Given the description of an element on the screen output the (x, y) to click on. 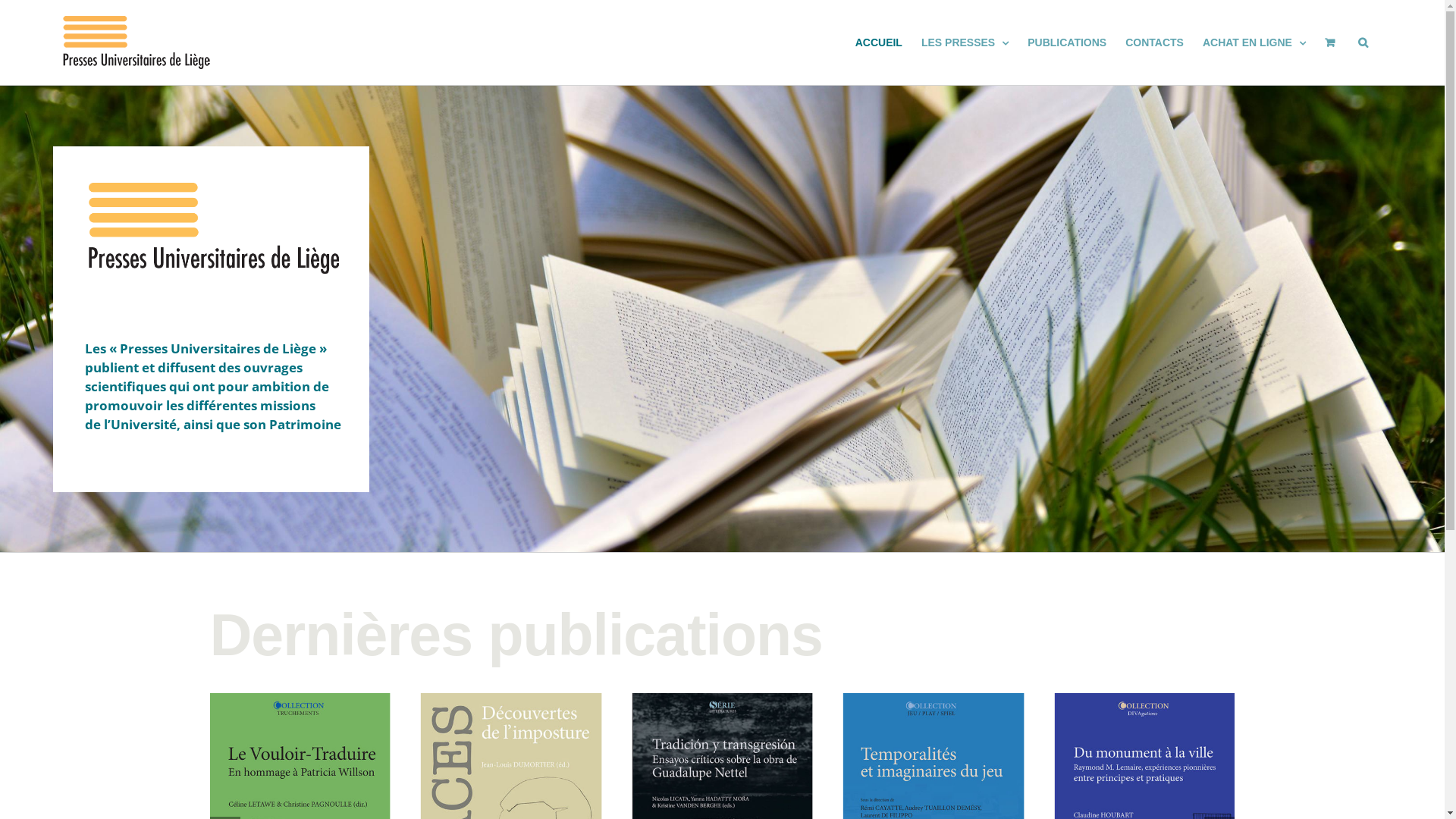
CONTACTS Element type: text (1154, 42)
Recherche Element type: hover (1363, 42)
PUBLICATIONS Element type: text (1066, 42)
ACHAT EN LIGNE Element type: text (1253, 42)
LES PRESSES Element type: text (964, 42)
ACCUEIL Element type: text (878, 42)
